Given the description of an element on the screen output the (x, y) to click on. 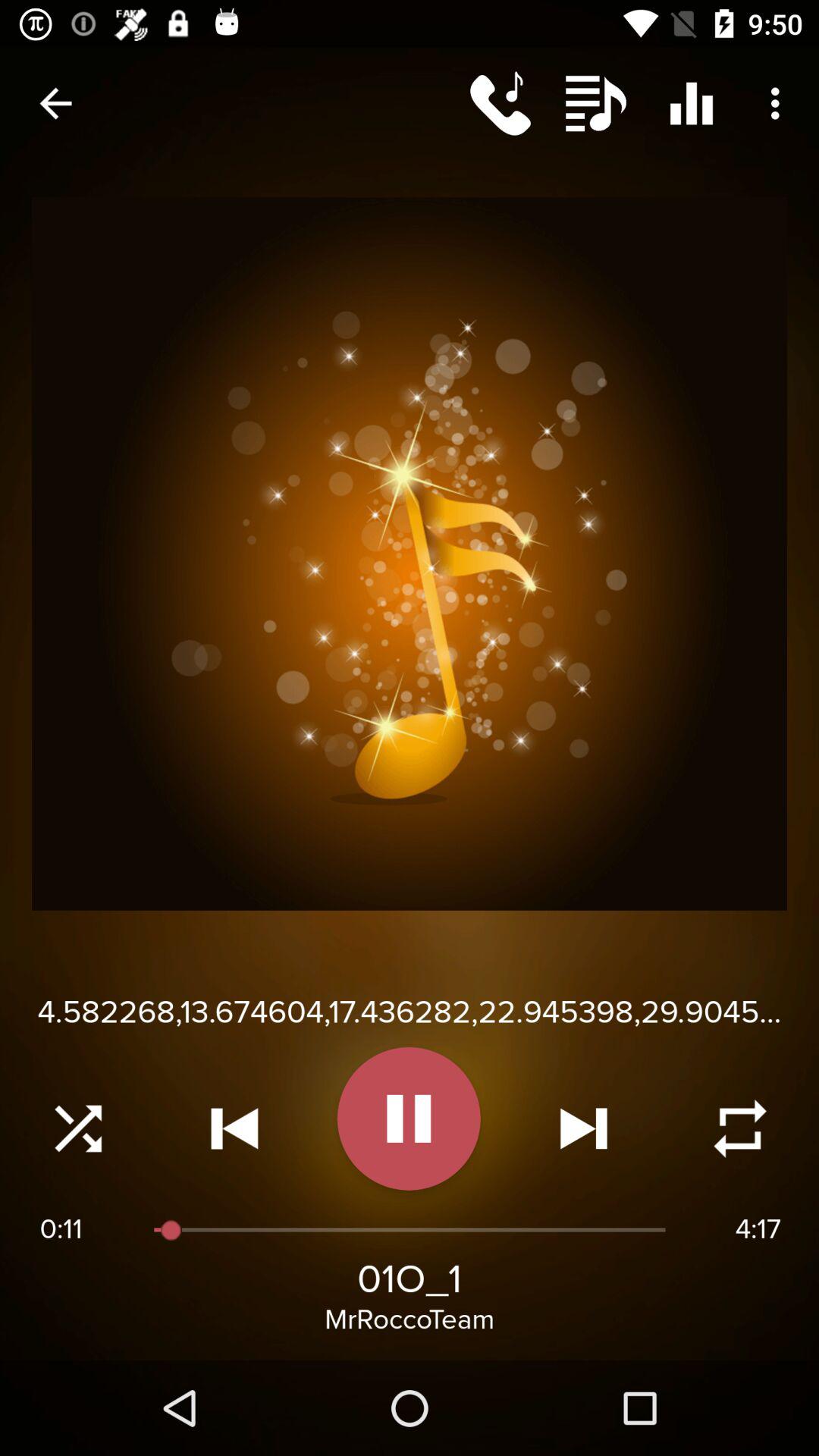
select the music icon (595, 103)
